Given the description of an element on the screen output the (x, y) to click on. 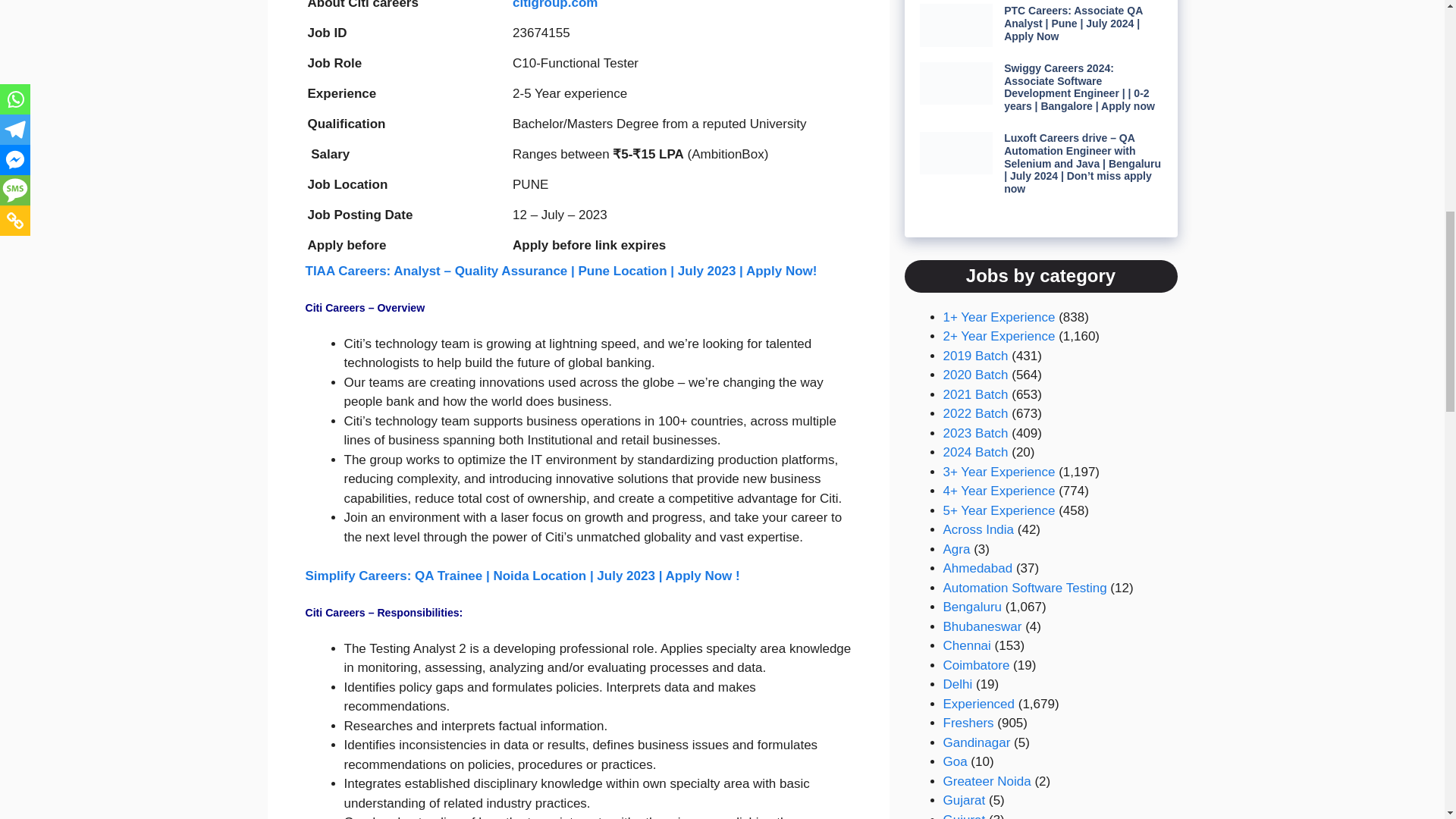
citigroup (554, 4)
citigroup.com (554, 4)
